Given the description of an element on the screen output the (x, y) to click on. 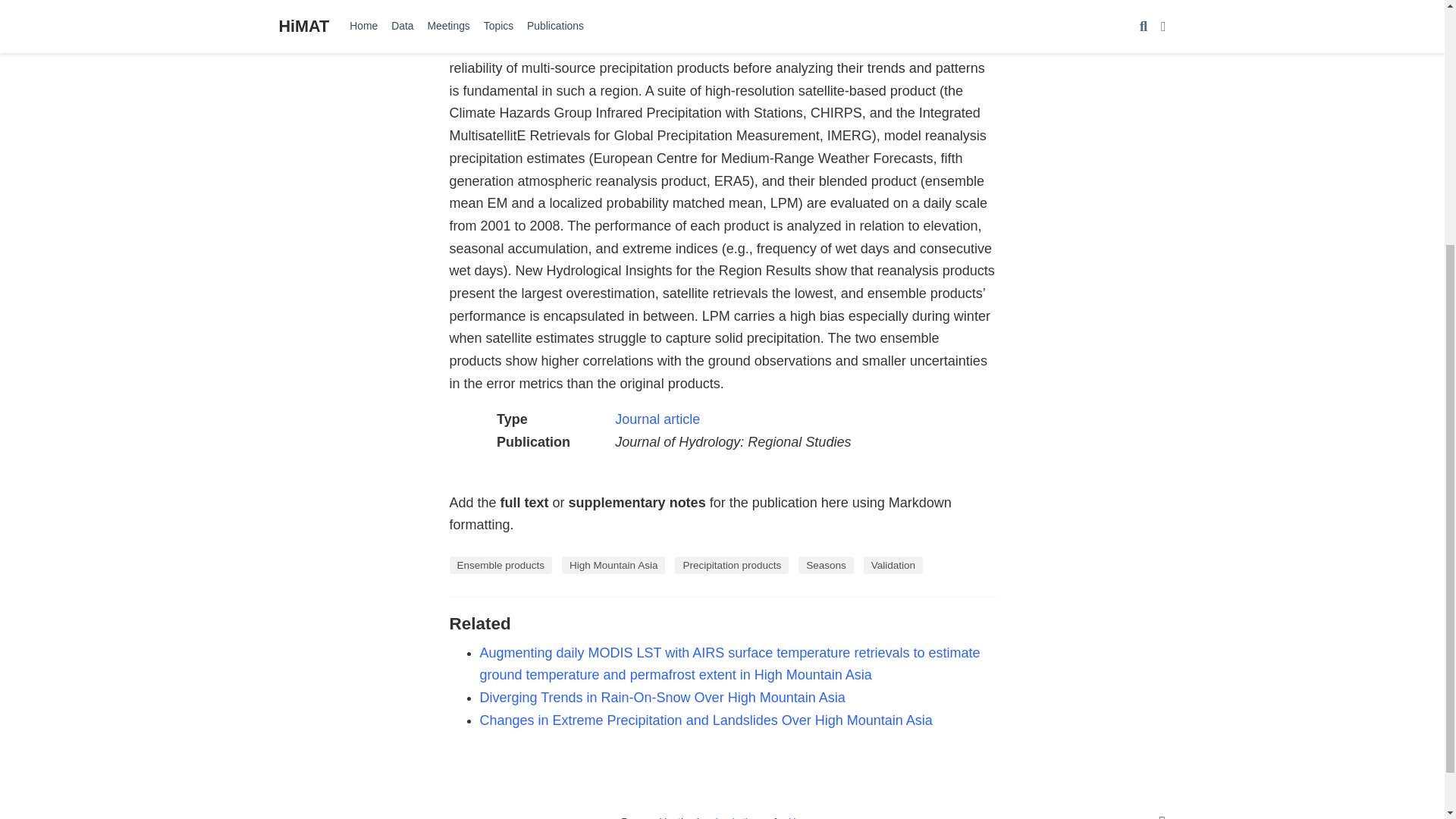
Diverging Trends in Rain-On-Snow Over High Mountain Asia (661, 697)
High Mountain Asia (613, 565)
Ensemble products (499, 565)
Seasons (825, 565)
Validation (893, 565)
Precipitation products (732, 565)
Journal article (657, 418)
